Given the description of an element on the screen output the (x, y) to click on. 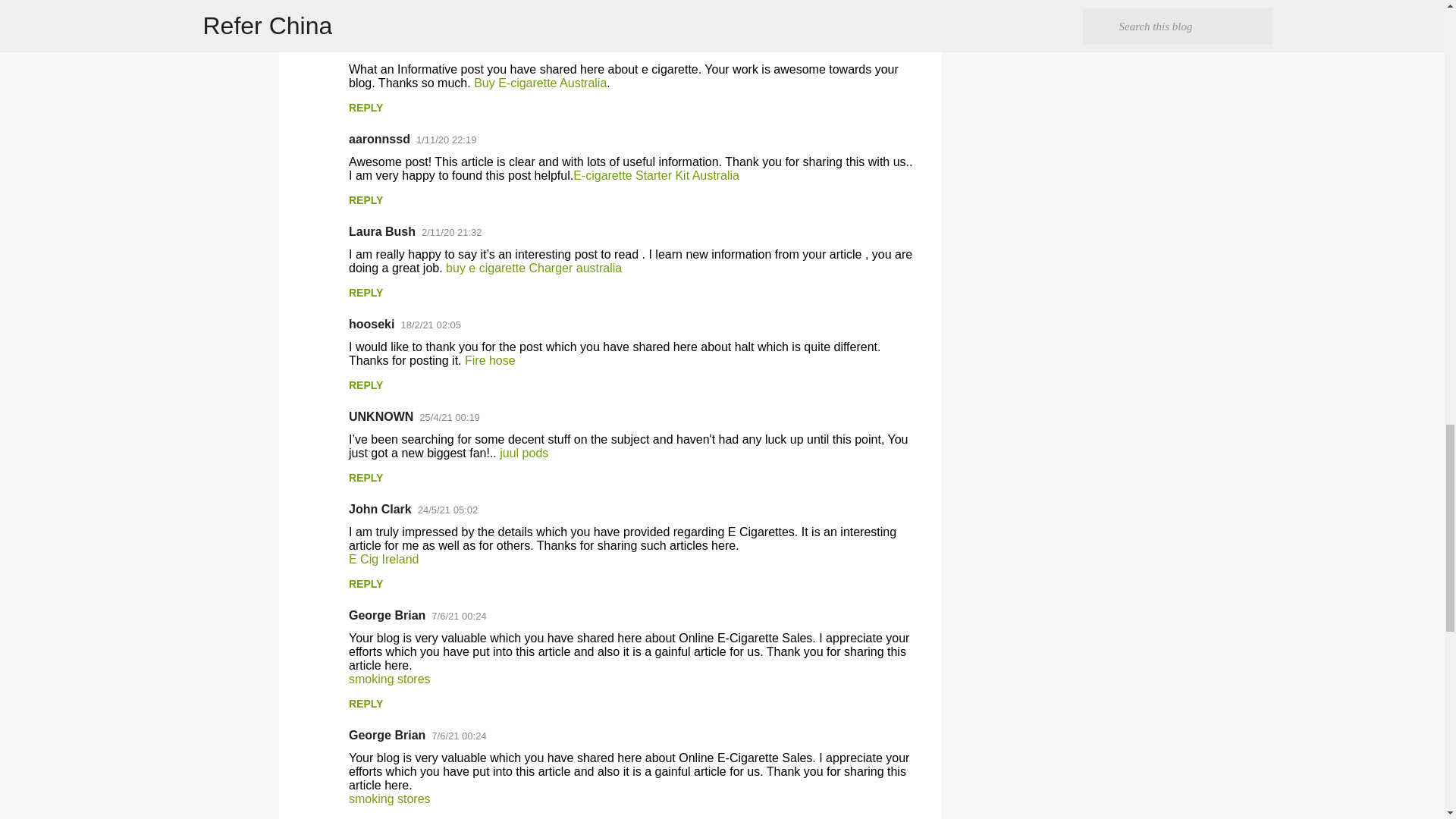
aaronnssd (379, 46)
aaronnssd (379, 138)
E-cigarette Starter Kit Australia (656, 174)
buy e cigarette Charger australia (533, 267)
REPLY (365, 107)
REPLY (365, 15)
REPLY (365, 200)
REPLY (365, 292)
Laura Bush (381, 231)
Buy E-cigarette Australia (540, 82)
